Given the description of an element on the screen output the (x, y) to click on. 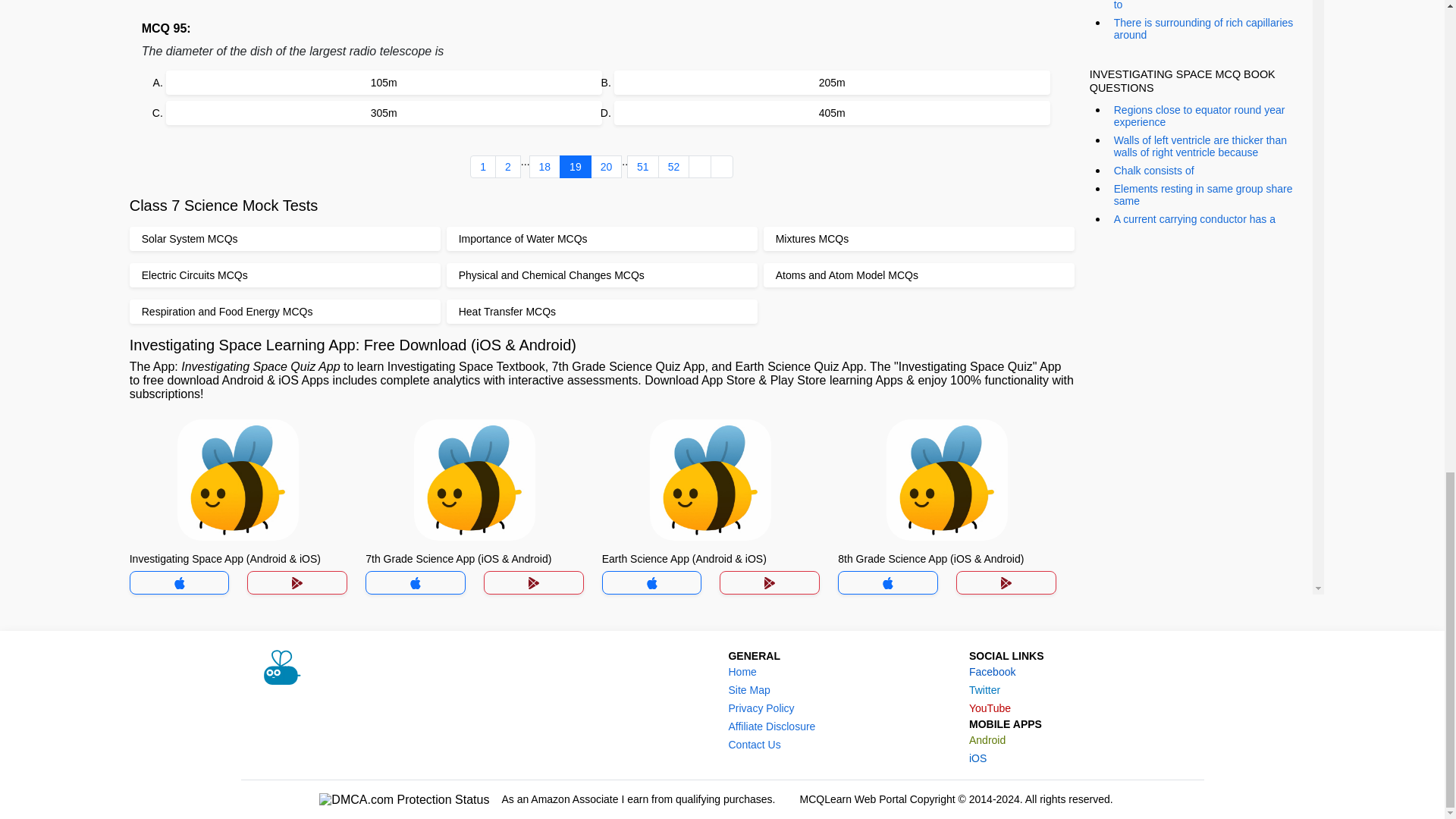
DMCA.com Protection Status (403, 799)
